Given the description of an element on the screen output the (x, y) to click on. 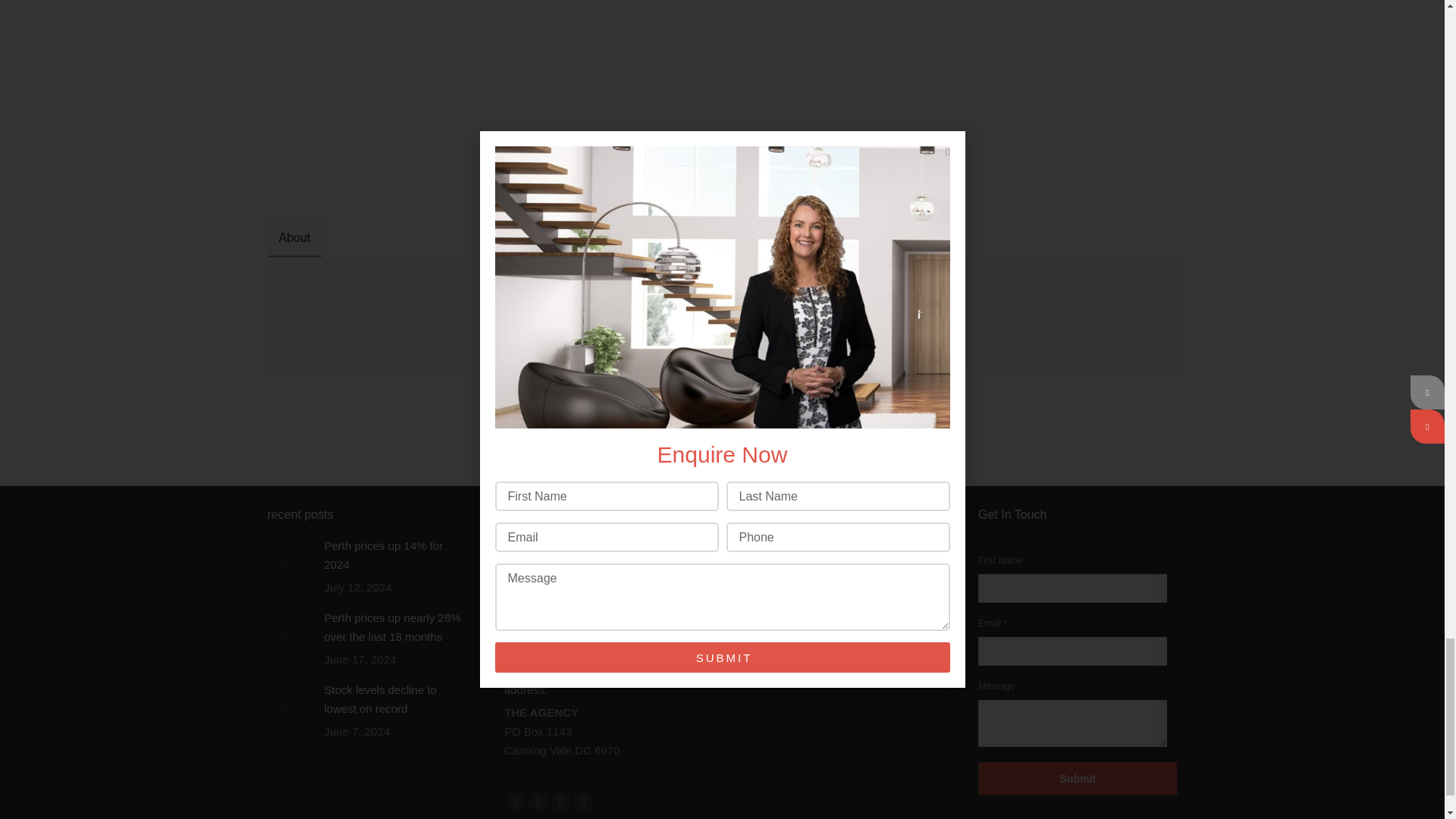
Submit (1077, 778)
